Given the description of an element on the screen output the (x, y) to click on. 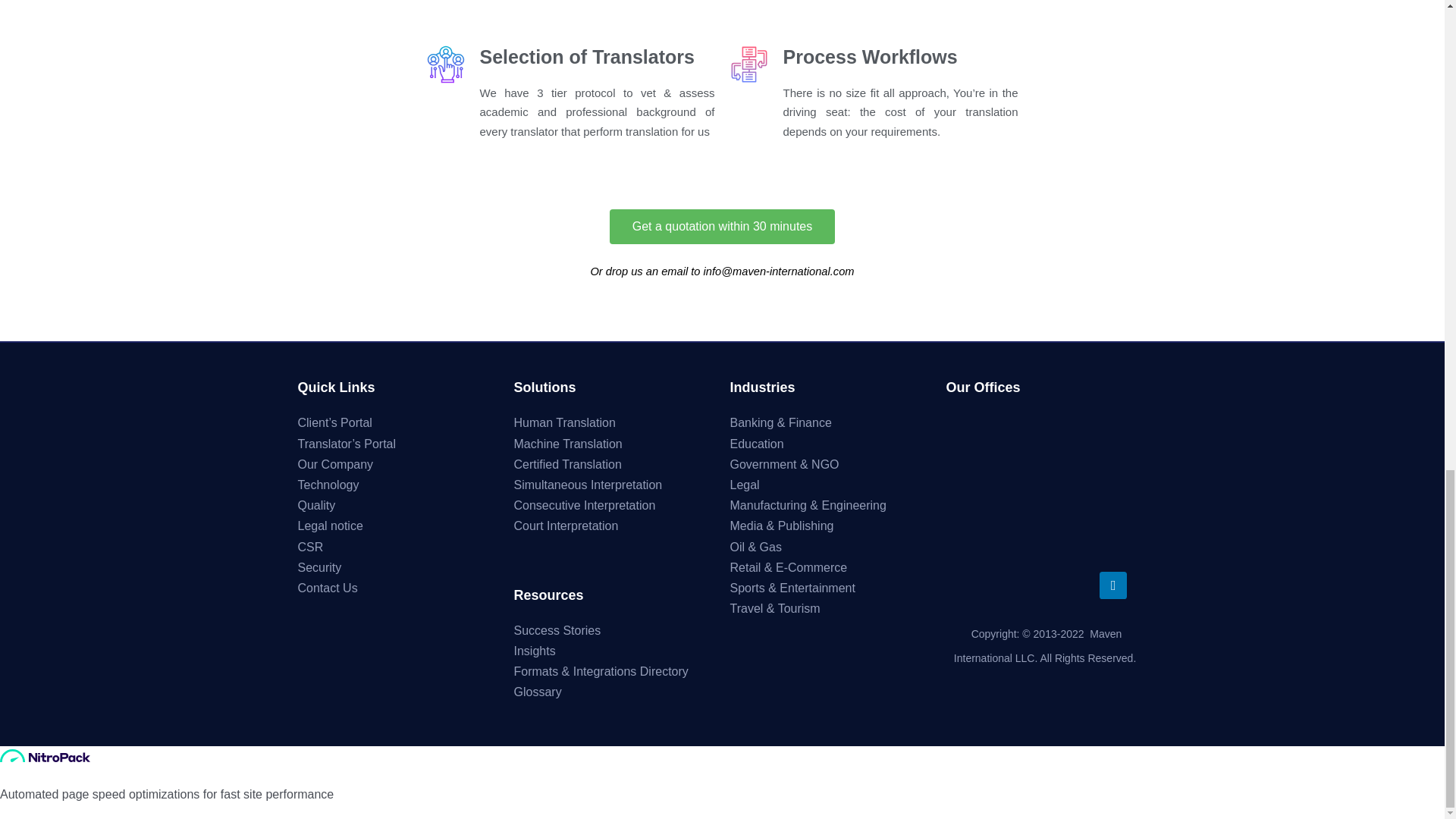
Technology (327, 484)
Legal notice (329, 525)
Education (756, 443)
Simultaneous Interpretation (587, 484)
Success Stories (557, 630)
Get a quotation within 30 minutes (722, 226)
Insights (534, 650)
Glossary (537, 691)
Legal (743, 484)
Machine Translation (568, 443)
